Given the description of an element on the screen output the (x, y) to click on. 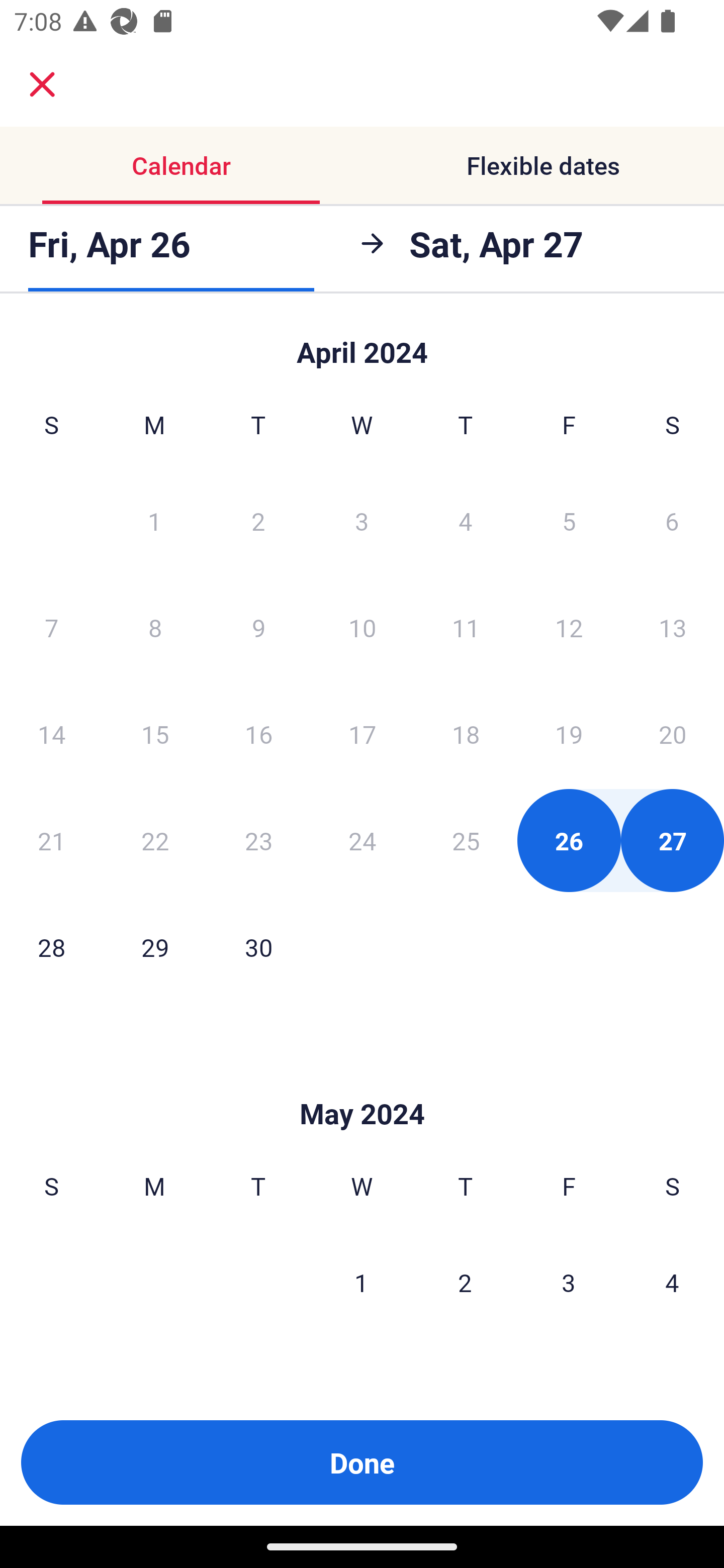
close. (42, 84)
Flexible dates (542, 164)
Skip to Done (362, 343)
1 Monday, April 1, 2024 (154, 520)
2 Tuesday, April 2, 2024 (257, 520)
3 Wednesday, April 3, 2024 (361, 520)
4 Thursday, April 4, 2024 (465, 520)
5 Friday, April 5, 2024 (568, 520)
6 Saturday, April 6, 2024 (672, 520)
7 Sunday, April 7, 2024 (51, 626)
8 Monday, April 8, 2024 (155, 626)
9 Tuesday, April 9, 2024 (258, 626)
10 Wednesday, April 10, 2024 (362, 626)
11 Thursday, April 11, 2024 (465, 626)
12 Friday, April 12, 2024 (569, 626)
13 Saturday, April 13, 2024 (672, 626)
14 Sunday, April 14, 2024 (51, 733)
15 Monday, April 15, 2024 (155, 733)
16 Tuesday, April 16, 2024 (258, 733)
17 Wednesday, April 17, 2024 (362, 733)
18 Thursday, April 18, 2024 (465, 733)
19 Friday, April 19, 2024 (569, 733)
20 Saturday, April 20, 2024 (672, 733)
21 Sunday, April 21, 2024 (51, 840)
22 Monday, April 22, 2024 (155, 840)
23 Tuesday, April 23, 2024 (258, 840)
24 Wednesday, April 24, 2024 (362, 840)
25 Thursday, April 25, 2024 (465, 840)
28 Sunday, April 28, 2024 (51, 946)
29 Monday, April 29, 2024 (155, 946)
30 Tuesday, April 30, 2024 (258, 946)
Skip to Done (362, 1083)
1 Wednesday, May 1, 2024 (361, 1282)
2 Thursday, May 2, 2024 (464, 1282)
3 Friday, May 3, 2024 (568, 1282)
4 Saturday, May 4, 2024 (672, 1282)
Done (361, 1462)
